Given the description of an element on the screen output the (x, y) to click on. 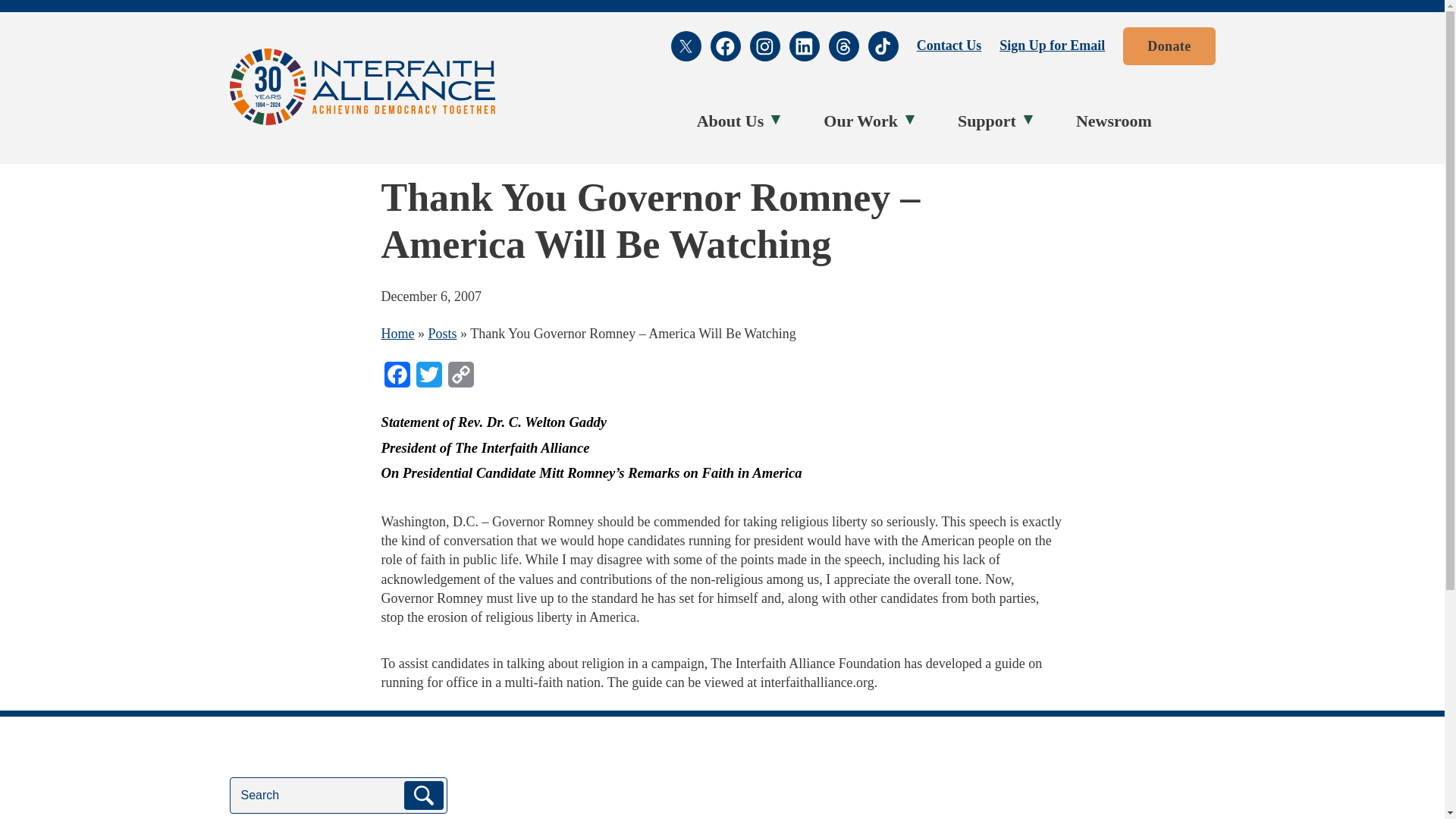
Threads (843, 46)
Copy Link (460, 378)
About Us (734, 121)
TikTok (882, 46)
Facebook (725, 46)
Donate (1168, 46)
Instagram (764, 46)
Our Work (864, 121)
LinkedIn (804, 46)
Sign Up for Email (1051, 45)
X (686, 46)
Contact Us (949, 45)
Facebook (396, 378)
Twitter (428, 378)
